Given the description of an element on the screen output the (x, y) to click on. 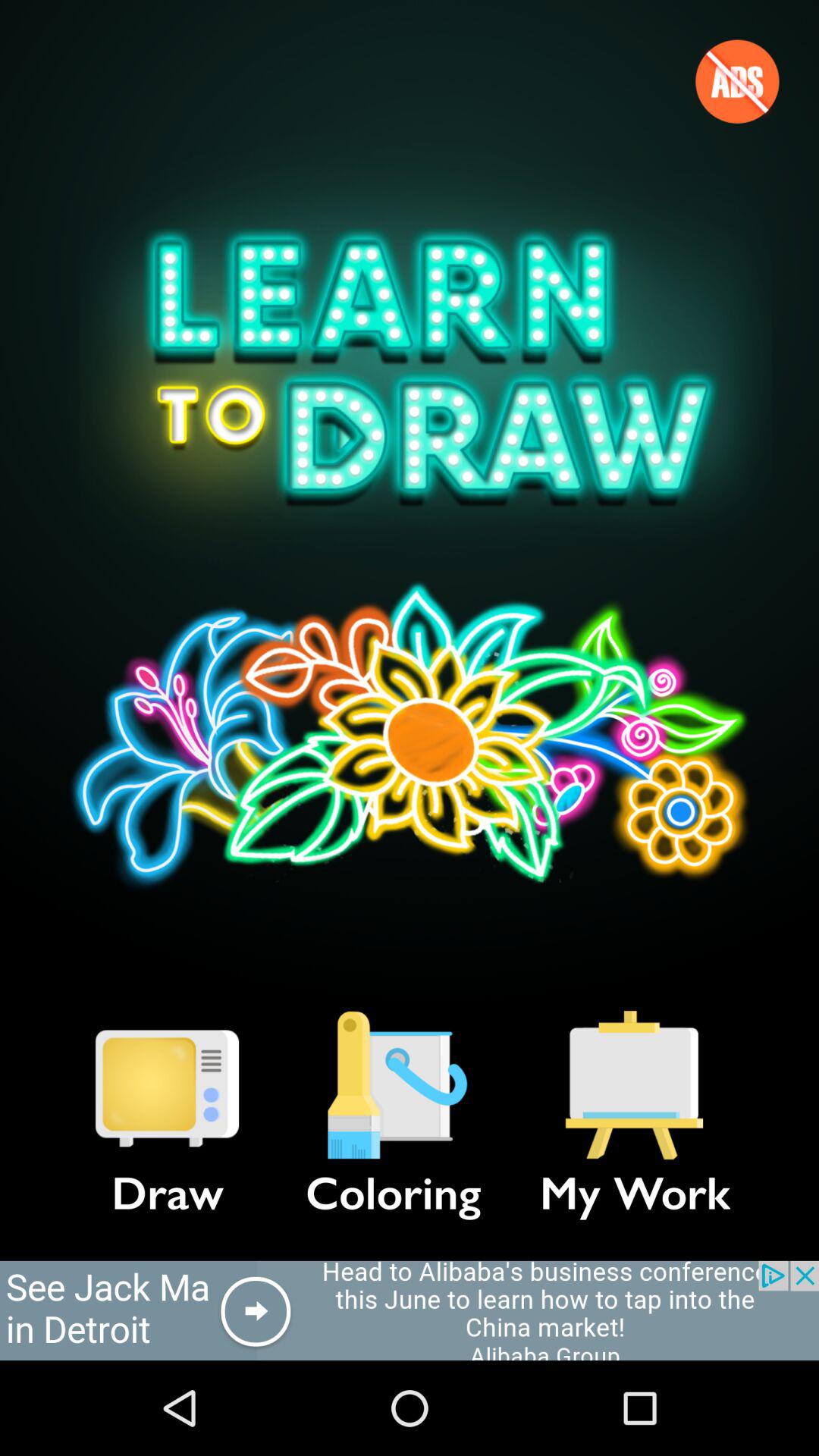
open the icon to the left of coloring (166, 1085)
